Given the description of an element on the screen output the (x, y) to click on. 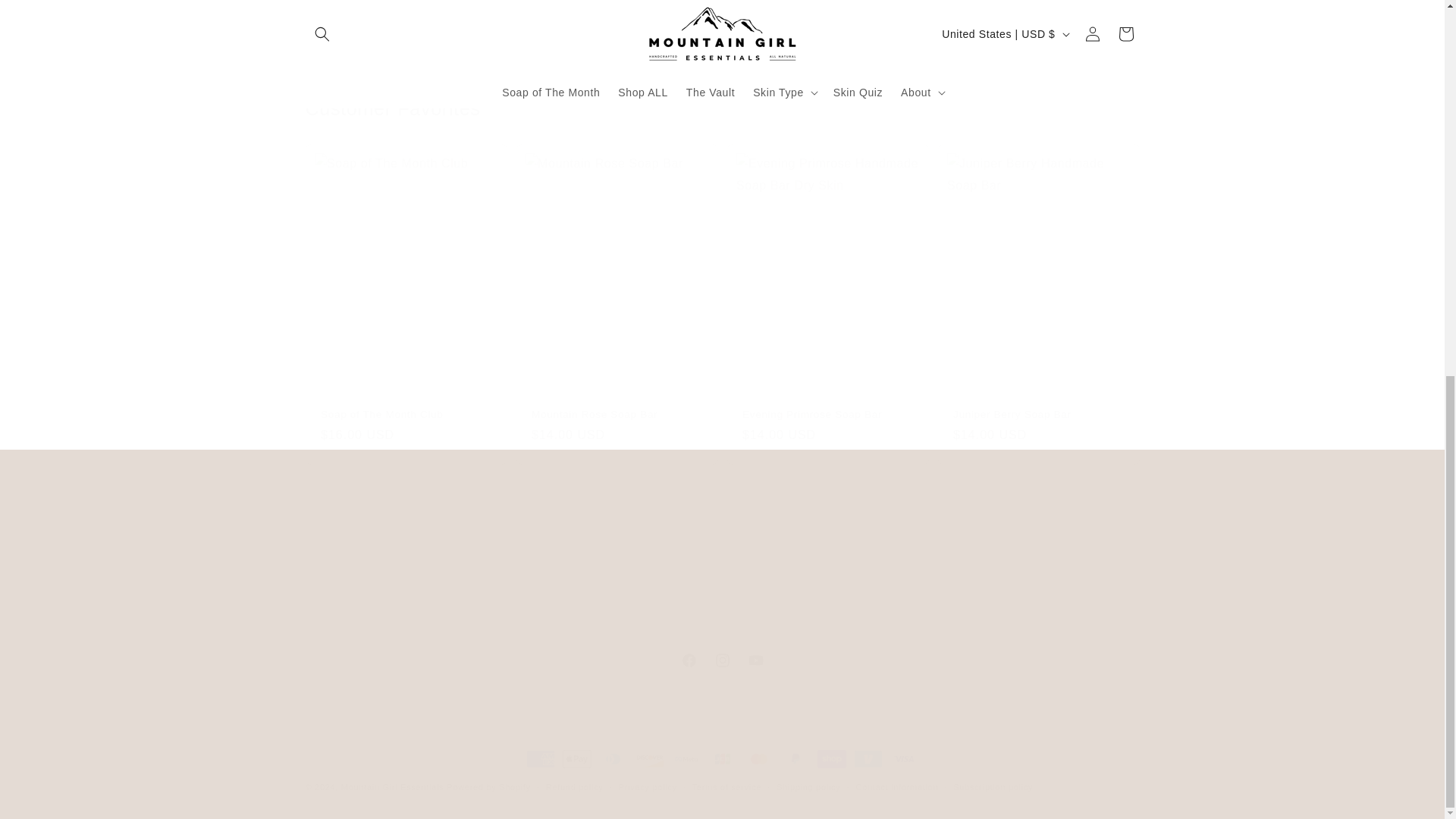
Facial Program - Mountain Girl Essentials (510, 566)
